Given the description of an element on the screen output the (x, y) to click on. 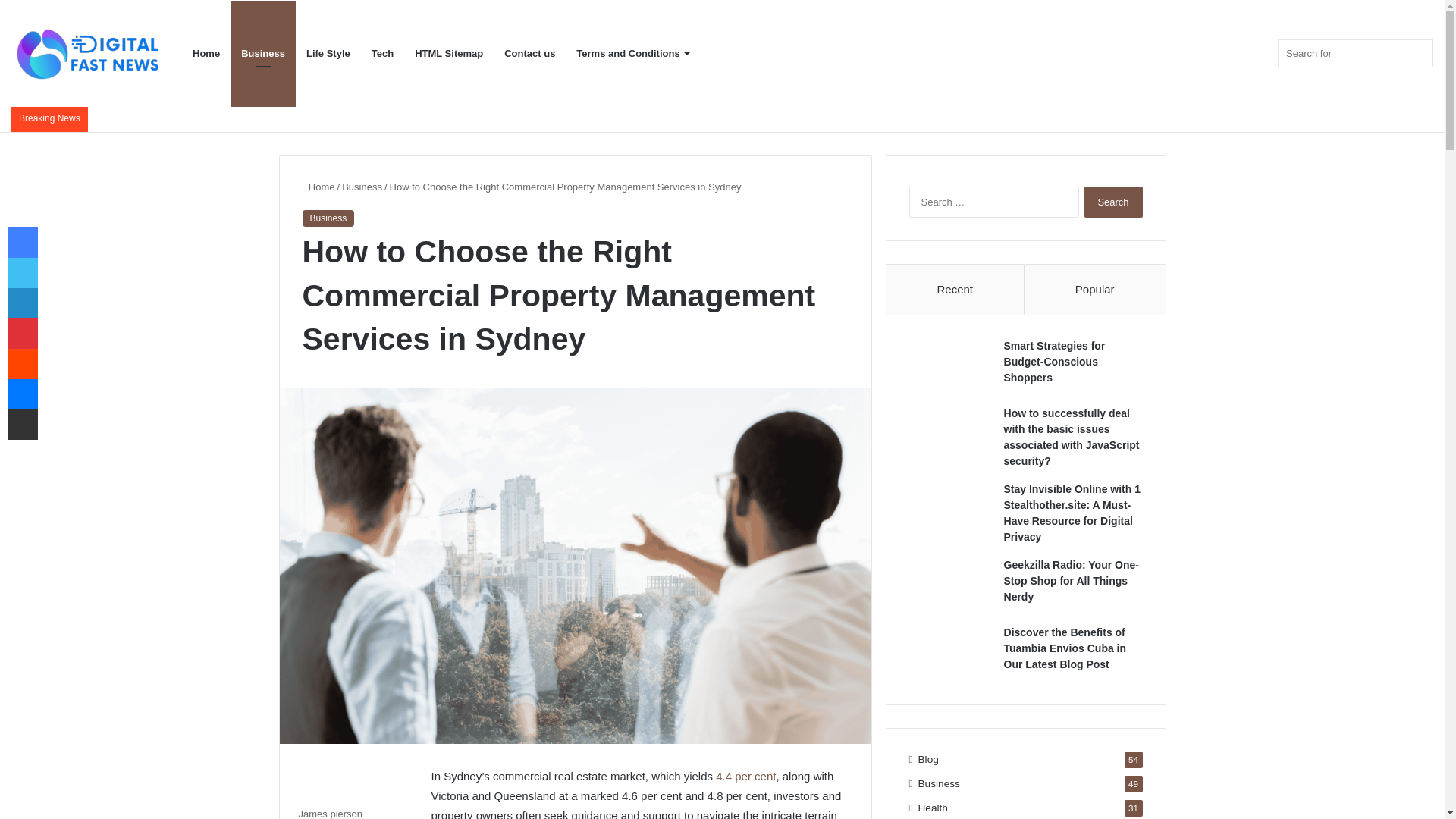
Contact us (529, 53)
Switch skin (1258, 53)
Random Article (1213, 53)
Life Style (328, 53)
HTML Sitemap (448, 53)
digital fast news (87, 53)
Log In (1190, 53)
Tech (382, 53)
Home (317, 186)
4.4 per cent (746, 775)
Send an email (367, 813)
James pierson (330, 813)
Business (262, 53)
Business (361, 186)
